Given the description of an element on the screen output the (x, y) to click on. 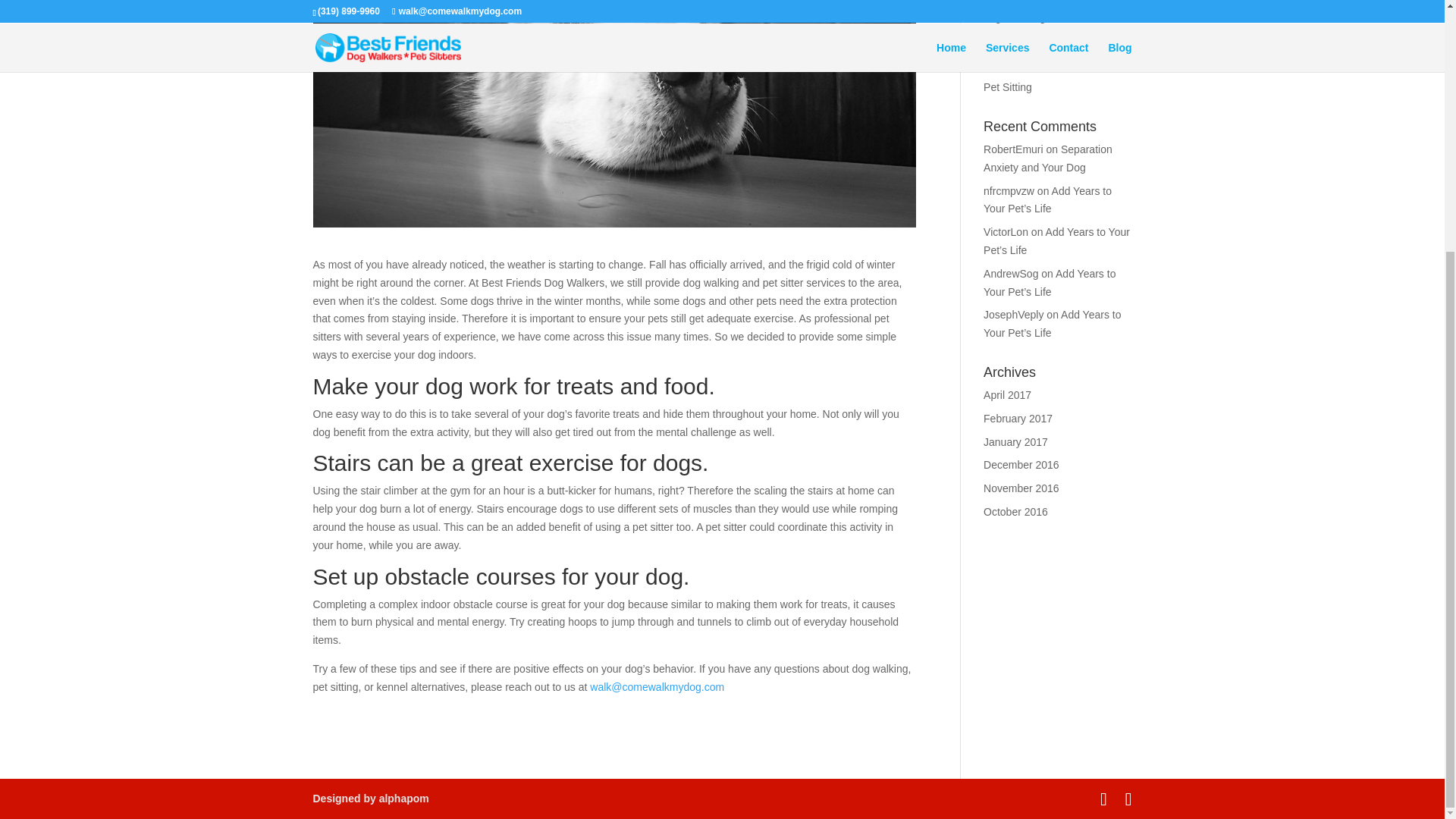
October 2016 (1016, 511)
RobertEmuri (1013, 149)
dog boarding (1014, 17)
nfrcmpvzw (1008, 191)
November 2016 (1021, 488)
VictorLon (1005, 232)
kennel alternative (1025, 63)
JosephVeply (1013, 314)
AndrewSog (1011, 273)
Dog Walking (1013, 40)
February 2017 (1018, 418)
Separation Anxiety and Your Dog (1048, 158)
Pet Sitting (1008, 87)
December 2016 (1021, 464)
January 2017 (1016, 441)
